Given the description of an element on the screen output the (x, y) to click on. 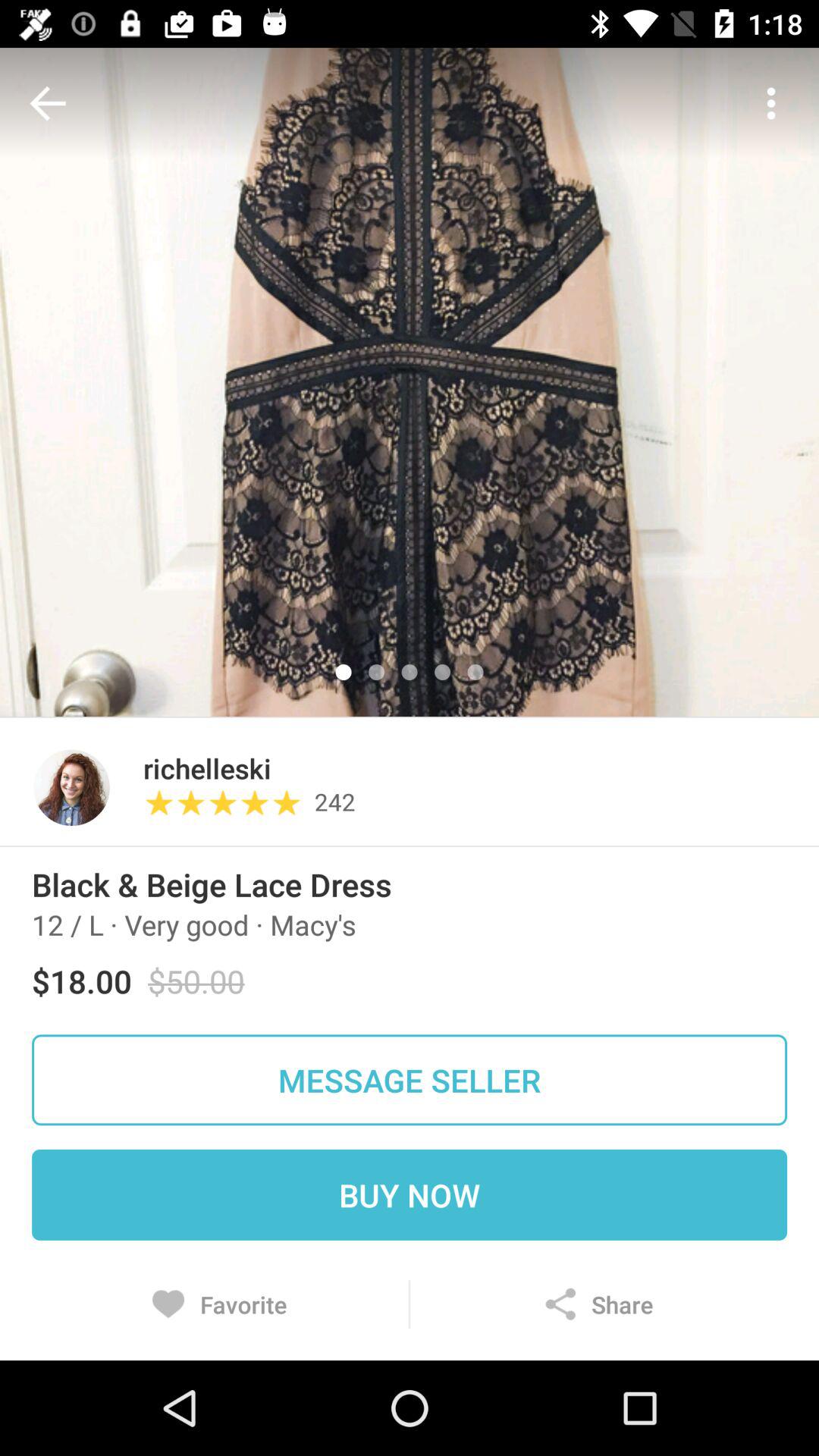
turn off item below buy now icon (598, 1304)
